Given the description of an element on the screen output the (x, y) to click on. 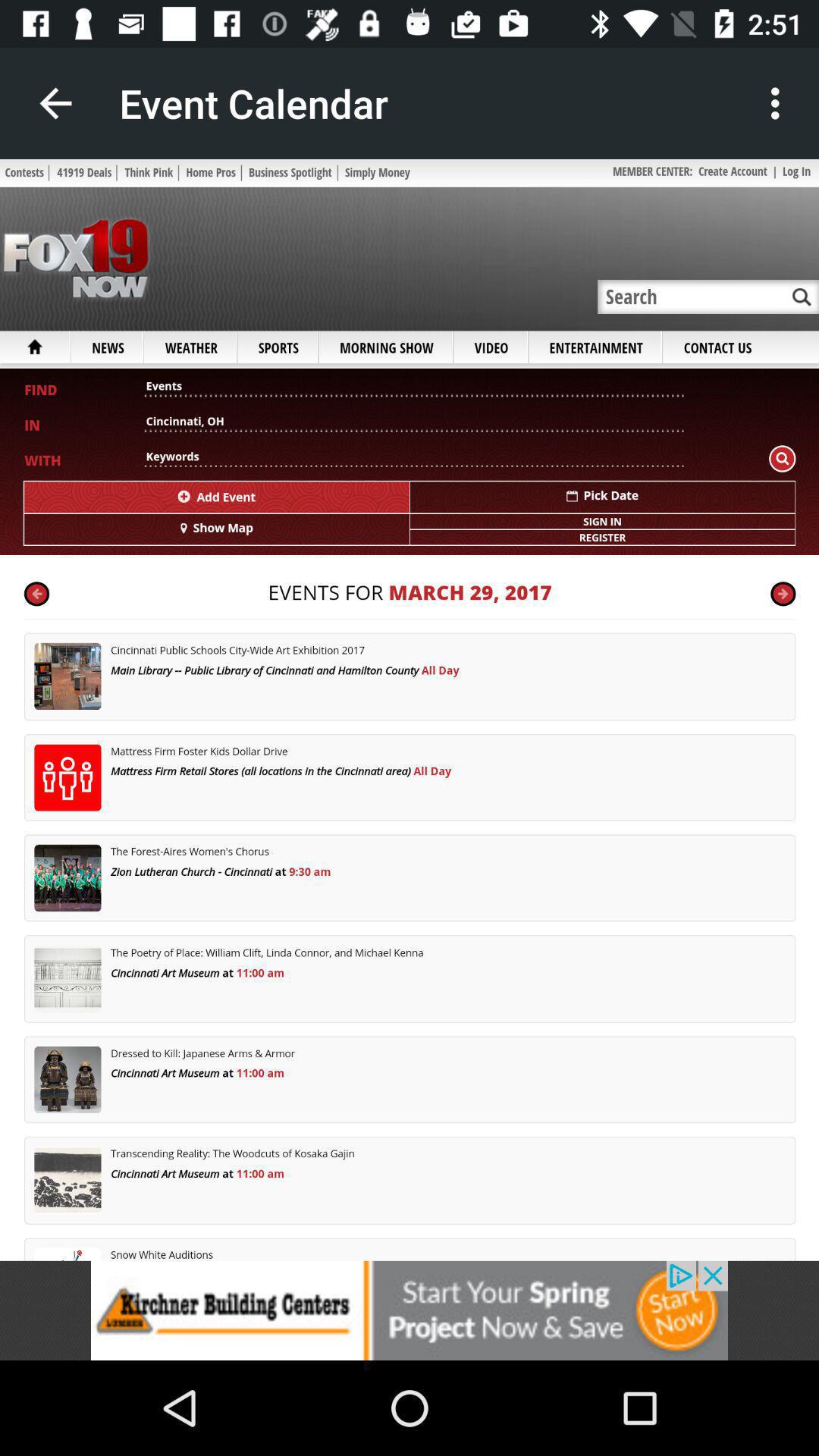
open page (409, 709)
